Given the description of an element on the screen output the (x, y) to click on. 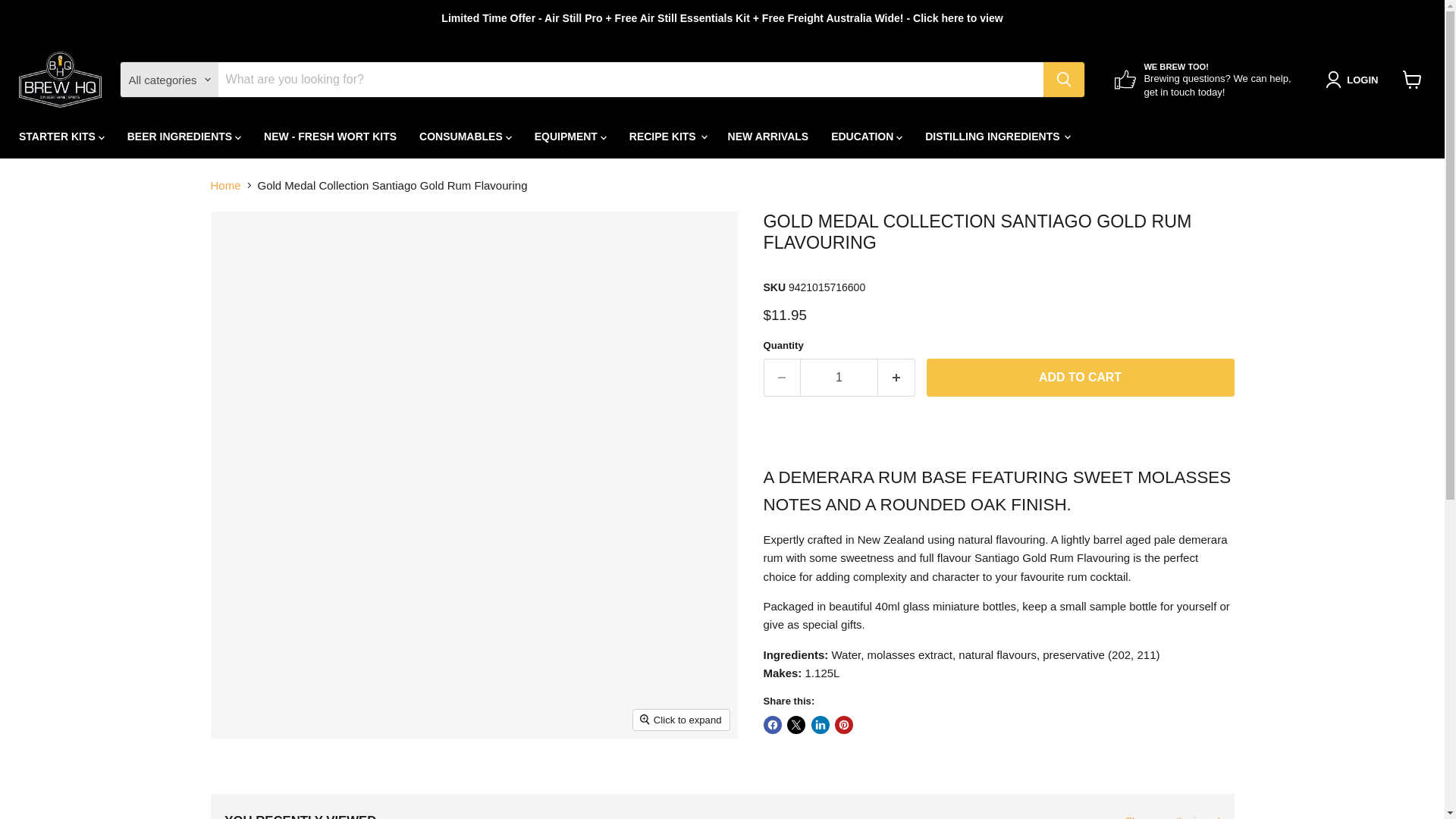
1 (838, 377)
View cart (1411, 79)
LOGIN (1354, 79)
